Given the description of an element on the screen output the (x, y) to click on. 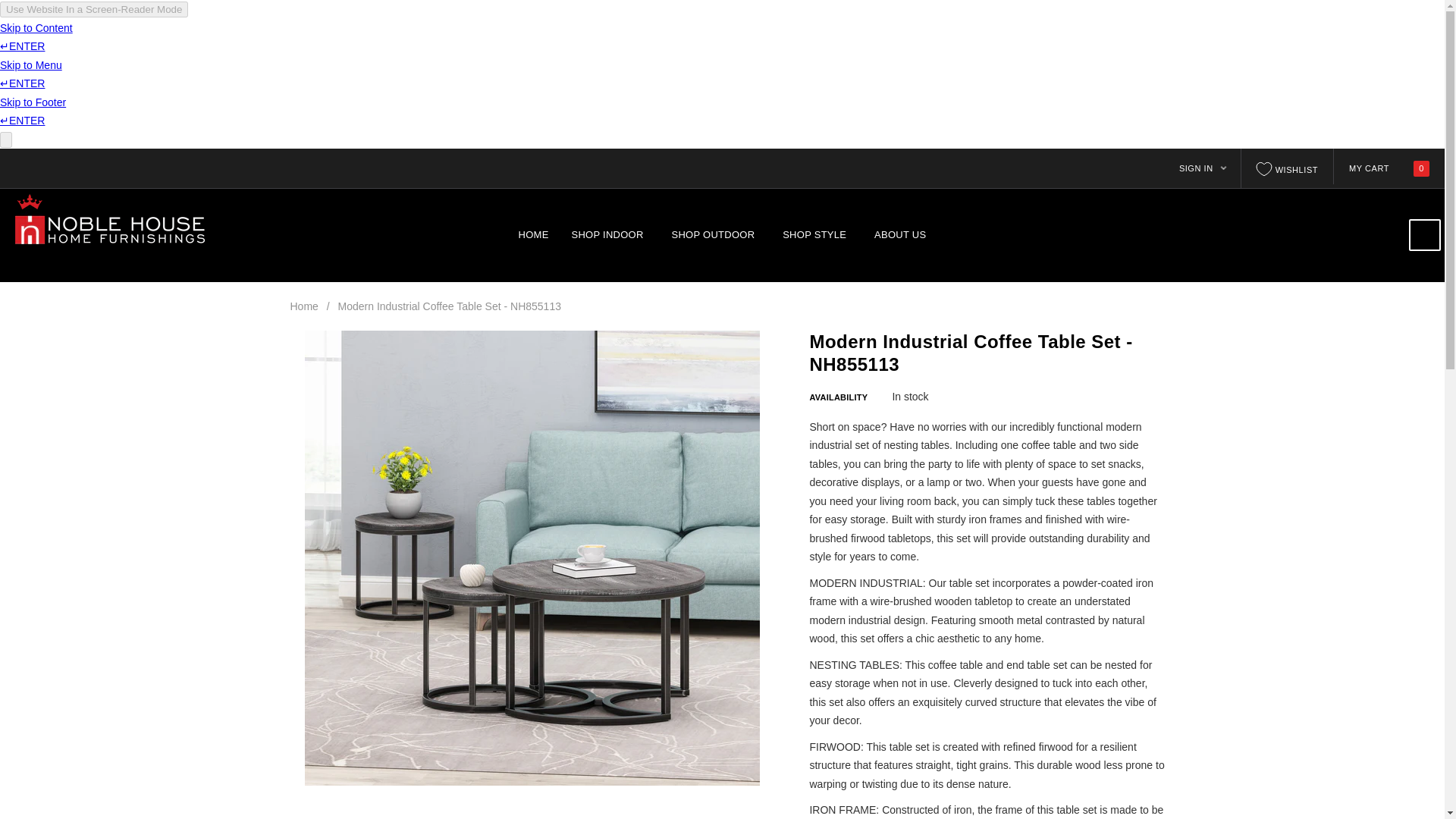
View Wishlist (1287, 167)
